Given the description of an element on the screen output the (x, y) to click on. 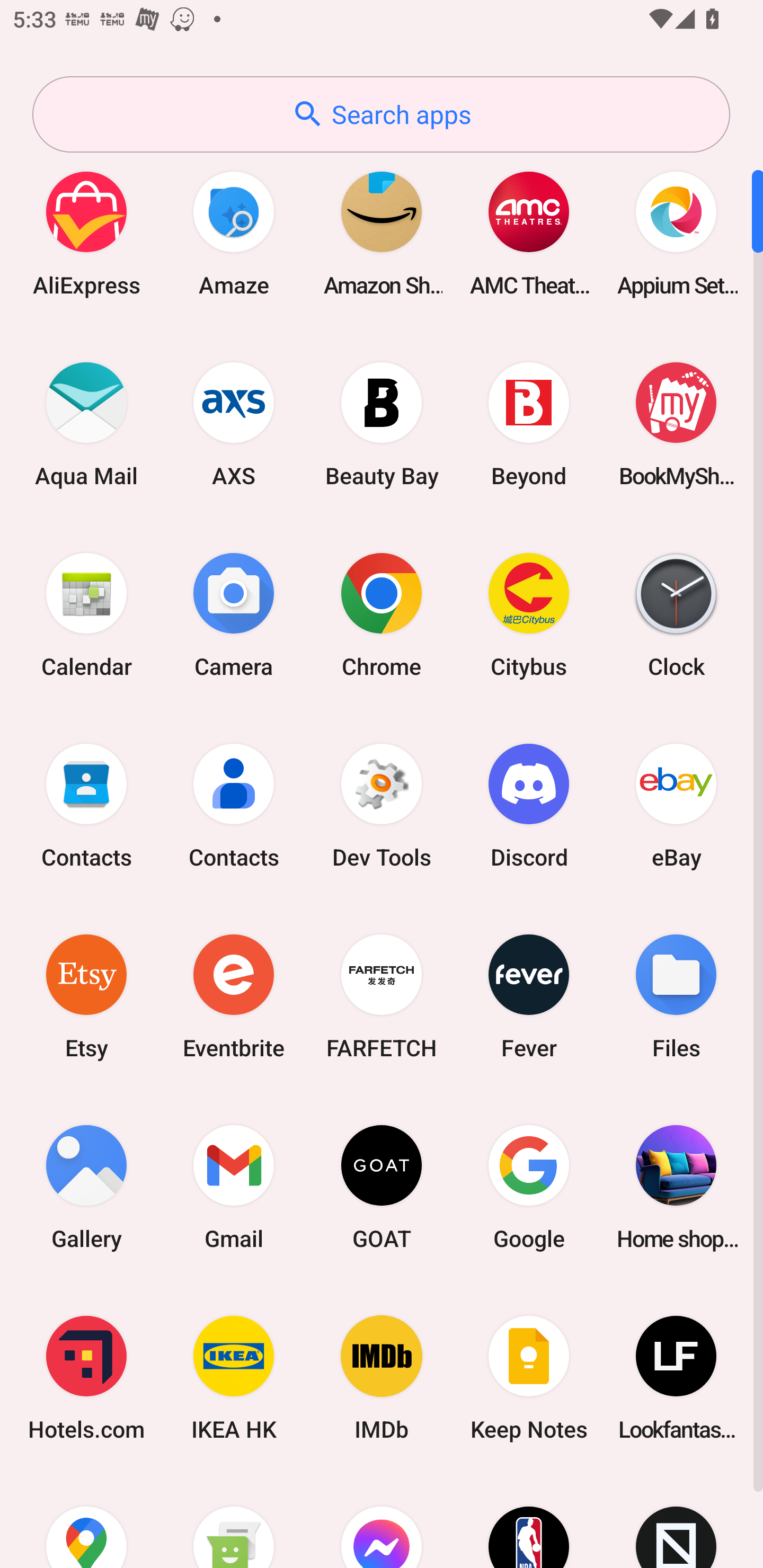
  Search apps (381, 114)
AliExpress (86, 233)
Amaze (233, 233)
Amazon Shopping (381, 233)
AMC Theatres (528, 233)
Appium Settings (676, 233)
Aqua Mail (86, 424)
AXS (233, 424)
Beauty Bay (381, 424)
Beyond (528, 424)
BookMyShow (676, 424)
Calendar (86, 614)
Camera (233, 614)
Chrome (381, 614)
Citybus (528, 614)
Clock (676, 614)
Contacts (86, 805)
Contacts (233, 805)
Dev Tools (381, 805)
Discord (528, 805)
eBay (676, 805)
Etsy (86, 996)
Eventbrite (233, 996)
FARFETCH (381, 996)
Fever (528, 996)
Files (676, 996)
Gallery (86, 1186)
Gmail (233, 1186)
GOAT (381, 1186)
Google (528, 1186)
Home shopping (676, 1186)
Hotels.com (86, 1377)
IKEA HK (233, 1377)
IMDb (381, 1377)
Keep Notes (528, 1377)
Lookfantastic (676, 1377)
Maps (86, 1520)
Messaging (233, 1520)
Messenger (381, 1520)
NBA (528, 1520)
Novelship (676, 1520)
